Given the description of an element on the screen output the (x, y) to click on. 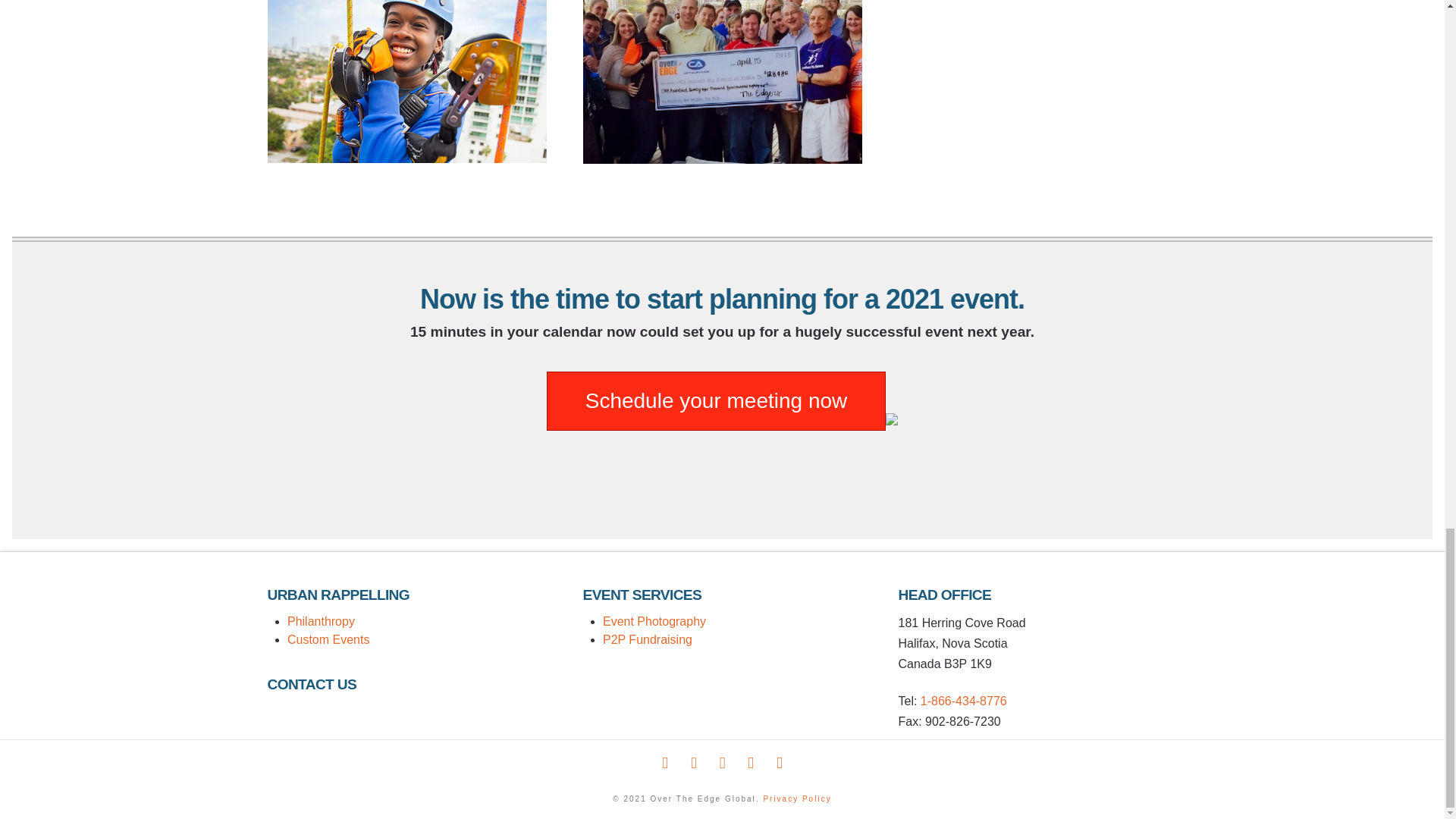
Privacy Policy (796, 798)
